Given the description of an element on the screen output the (x, y) to click on. 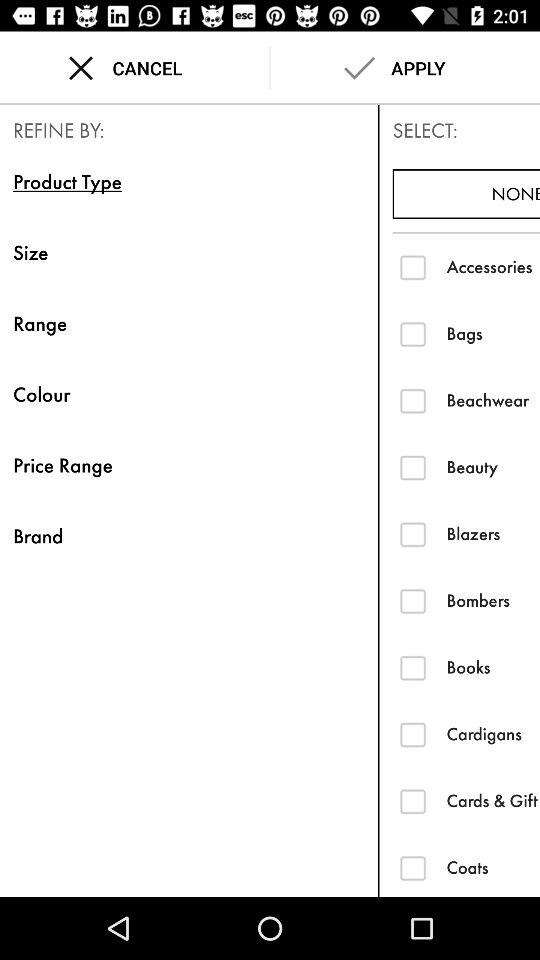
select the category (412, 800)
